Given the description of an element on the screen output the (x, y) to click on. 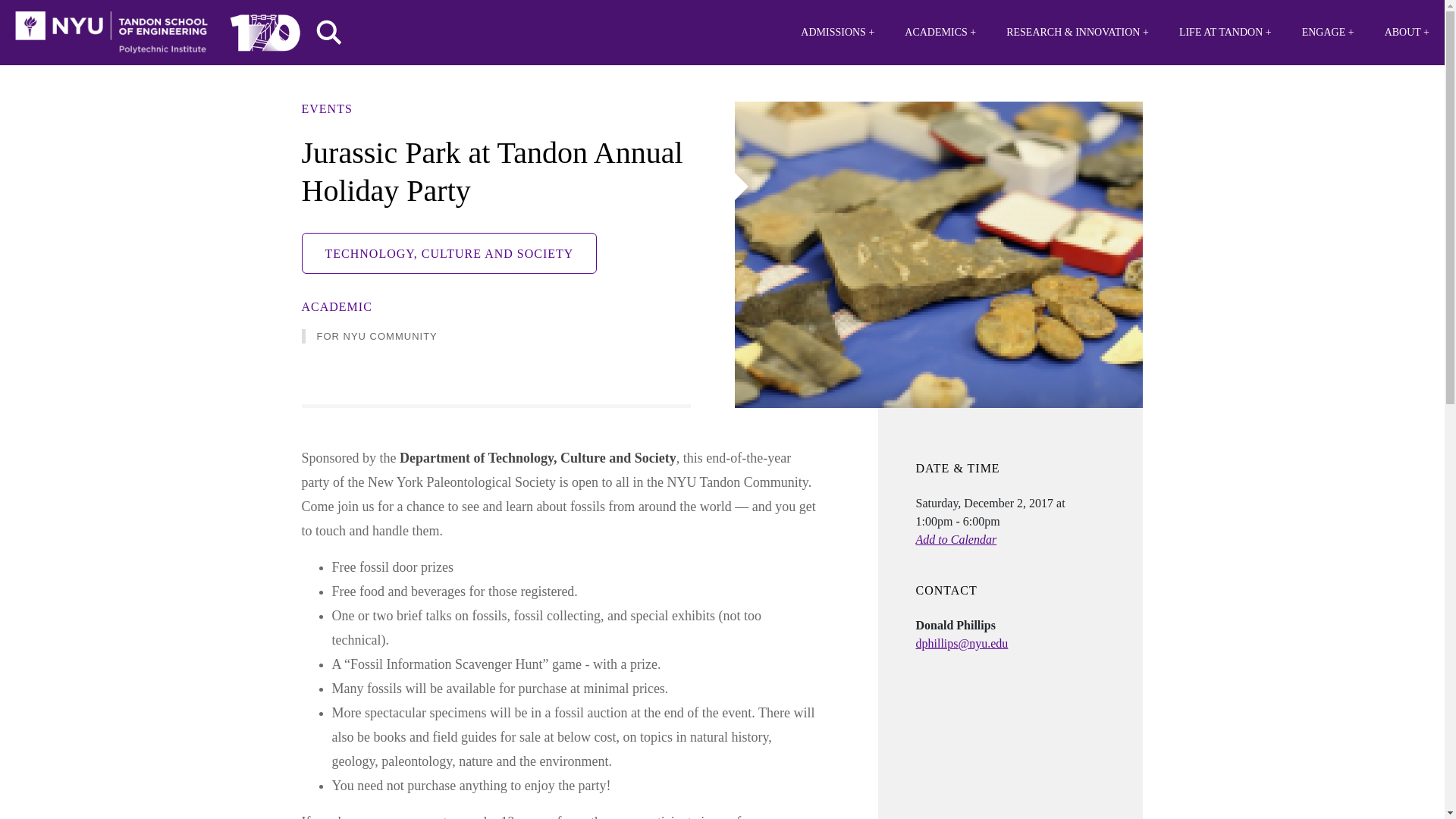
NYU Tandon School of Engineering - Polytechnic Institute (111, 32)
NYU Tandon Anniversary (264, 29)
NYU Tandon Logo (111, 32)
